Given the description of an element on the screen output the (x, y) to click on. 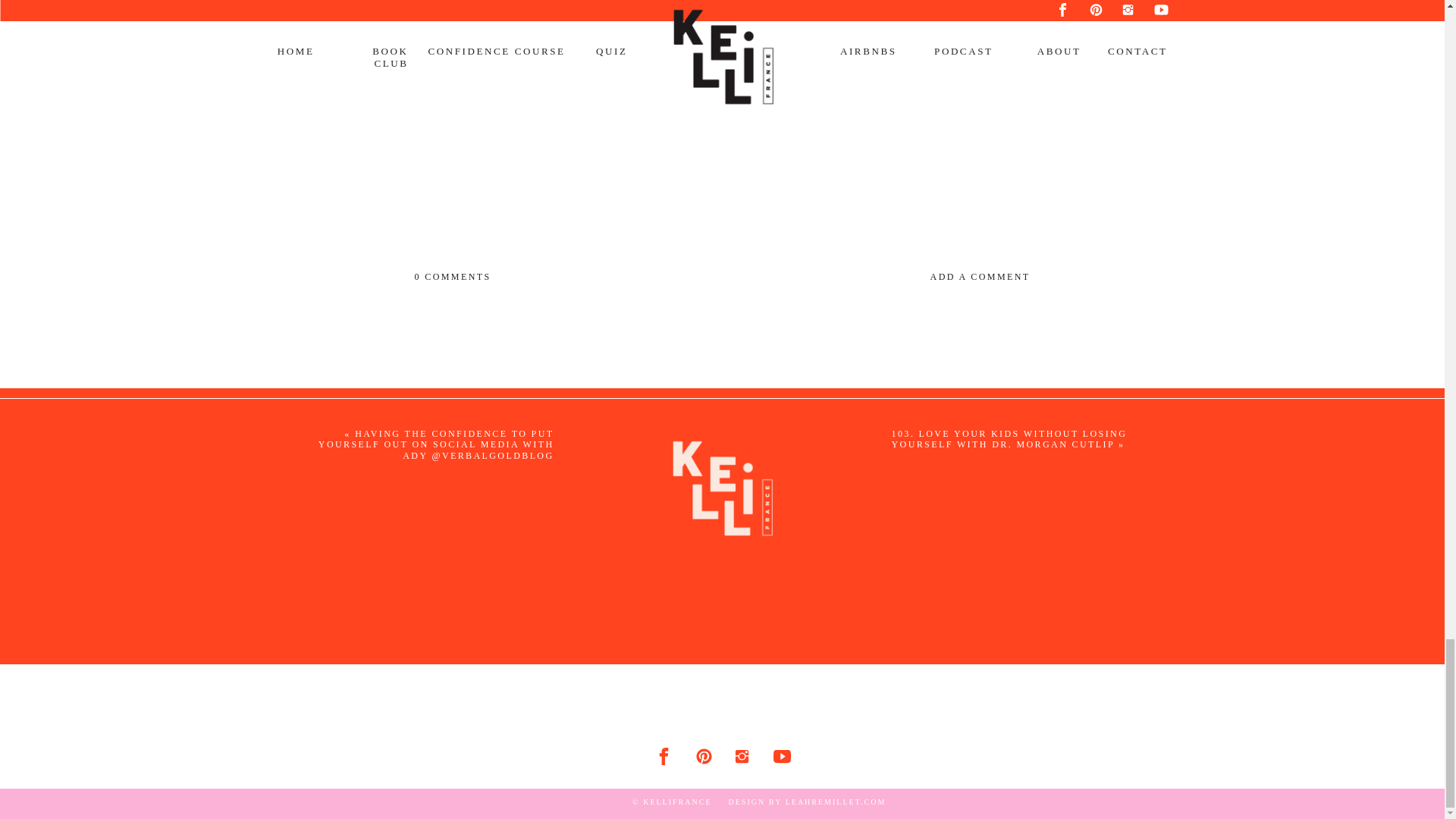
ADD A COMMENT (883, 276)
